Given the description of an element on the screen output the (x, y) to click on. 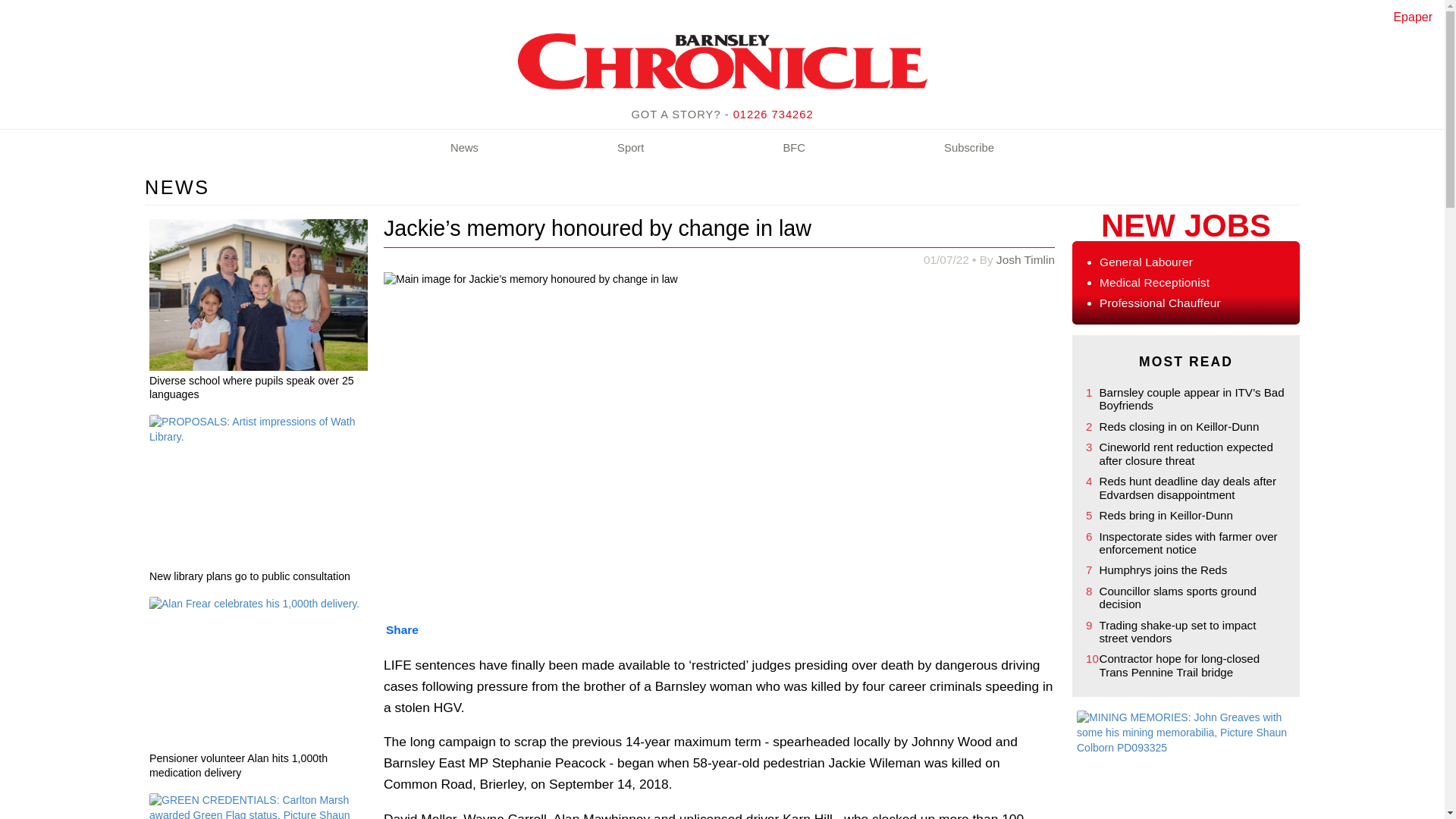
Sport (630, 148)
Subscribe (968, 148)
Epaper (1412, 16)
01226 734262 (773, 114)
BFC (793, 148)
News (464, 148)
Diverse school where pupils speak over 25 languages (258, 389)
